Given the description of an element on the screen output the (x, y) to click on. 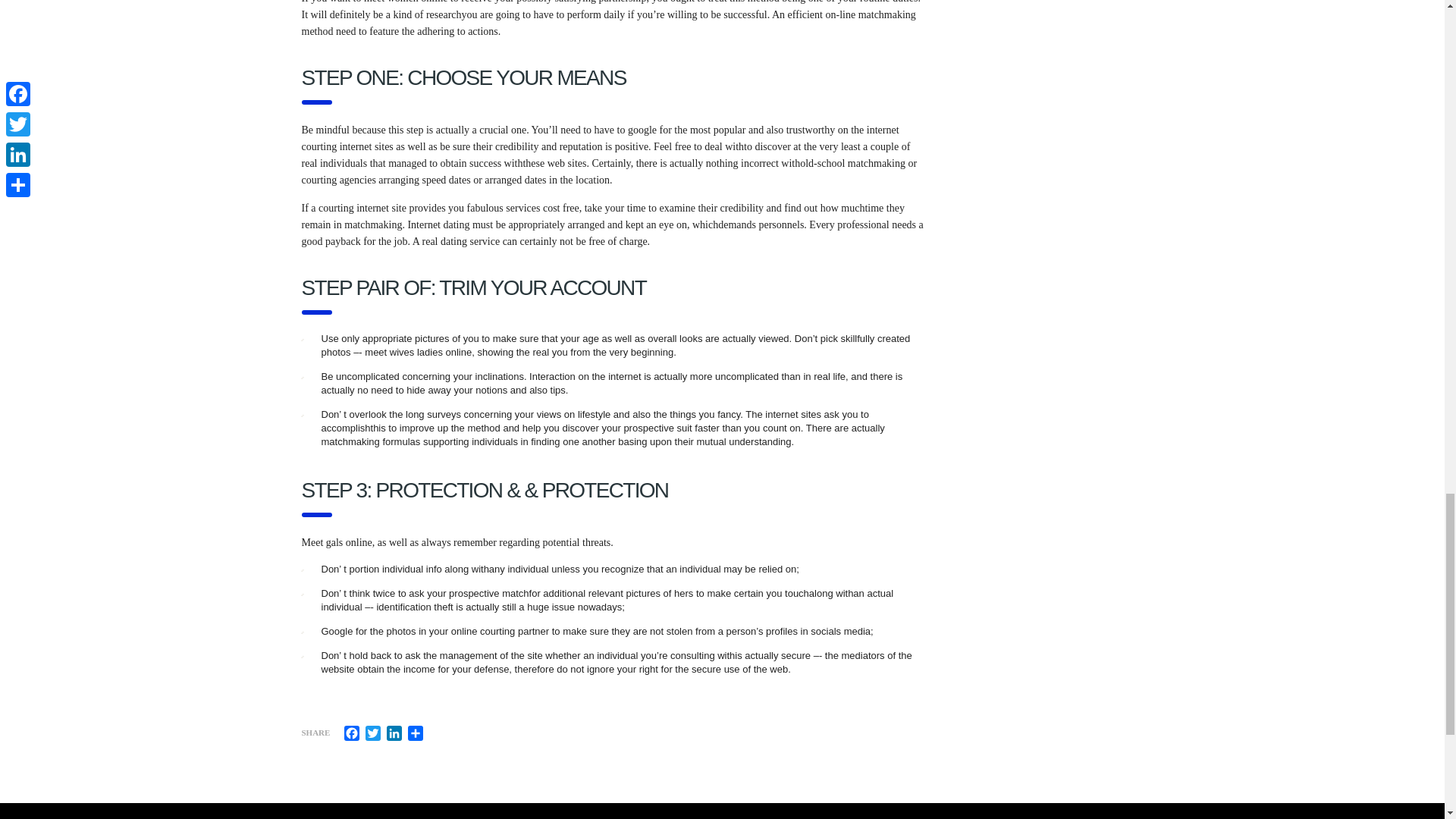
Share (415, 733)
LinkedIn (394, 733)
Facebook (351, 733)
Twitter (373, 733)
Facebook (351, 733)
Twitter (373, 733)
LinkedIn (394, 733)
